Given the description of an element on the screen output the (x, y) to click on. 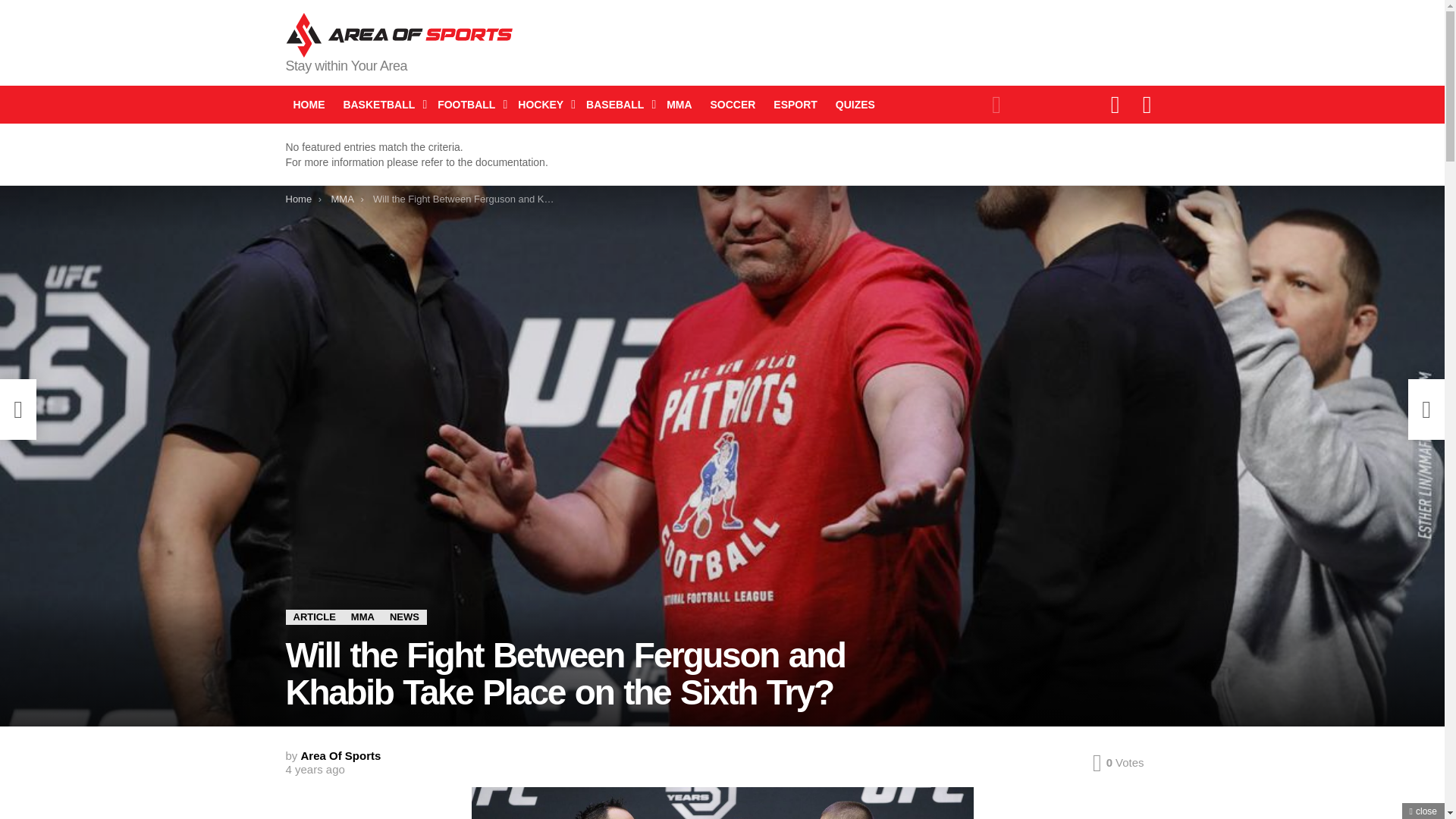
SOCCER (732, 104)
ARTICLE (313, 616)
BASKETBALL (380, 104)
MMA (678, 104)
HOCKEY (543, 104)
HOME (308, 104)
ESPORT (795, 104)
MMA (362, 616)
Area Of Sports (341, 755)
Posts by Area Of Sports (341, 755)
